Given the description of an element on the screen output the (x, y) to click on. 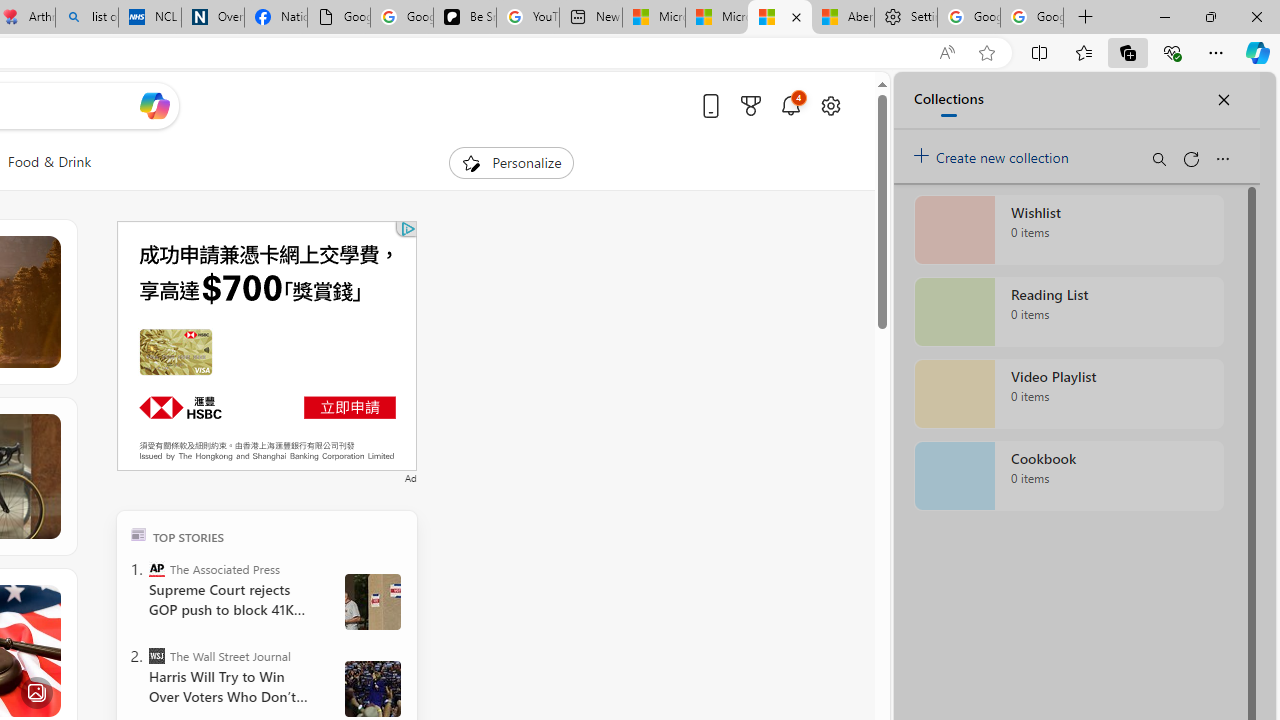
The Associated Press (156, 568)
Google Analytics Opt-out Browser Add-on Download Page (338, 17)
